Given the description of an element on the screen output the (x, y) to click on. 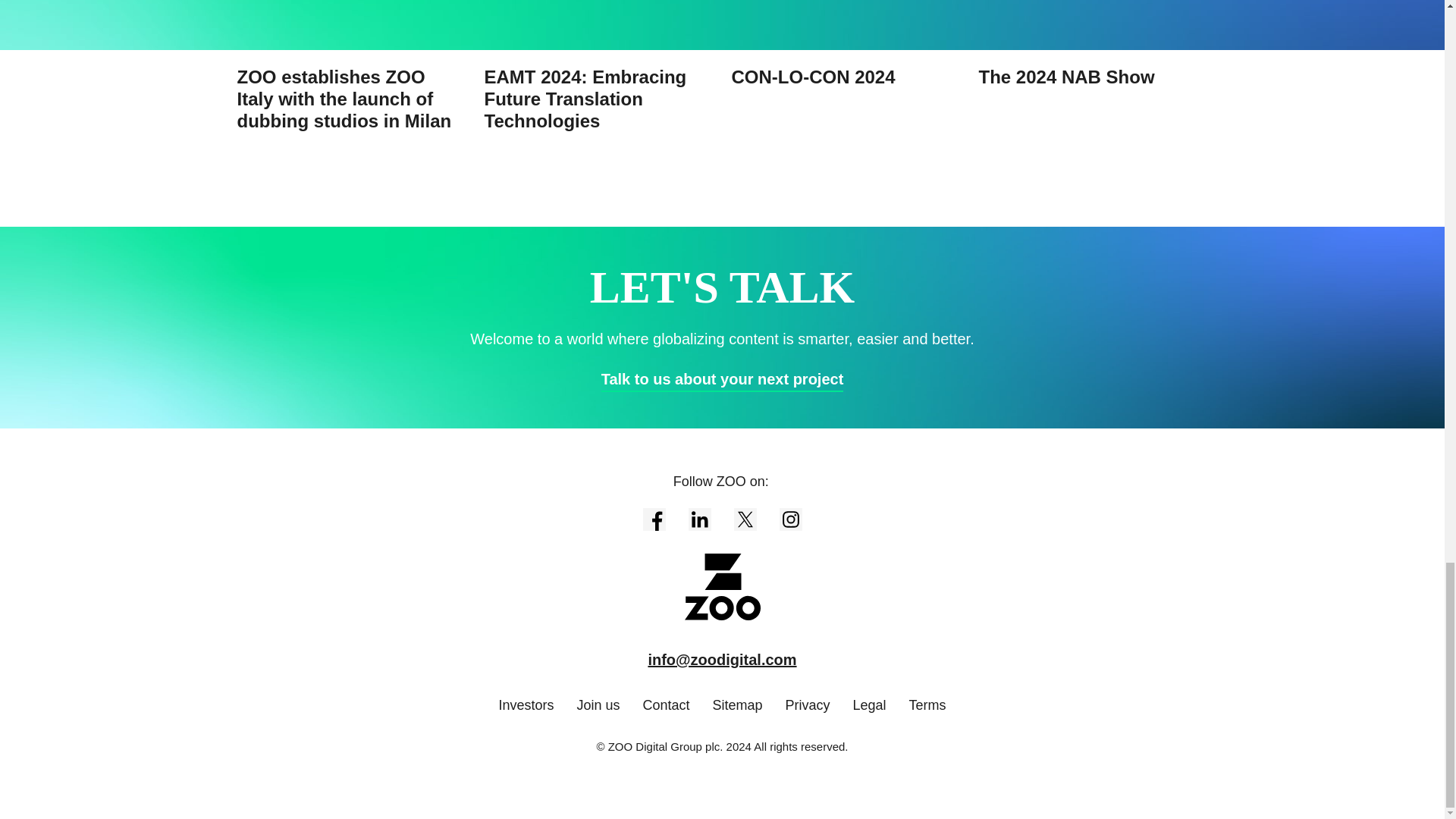
The 2024 NAB Show (1092, 44)
EAMT 2024: Embracing Future Translation Technologies (598, 66)
CON-LO-CON 2024 (844, 44)
